Given the description of an element on the screen output the (x, y) to click on. 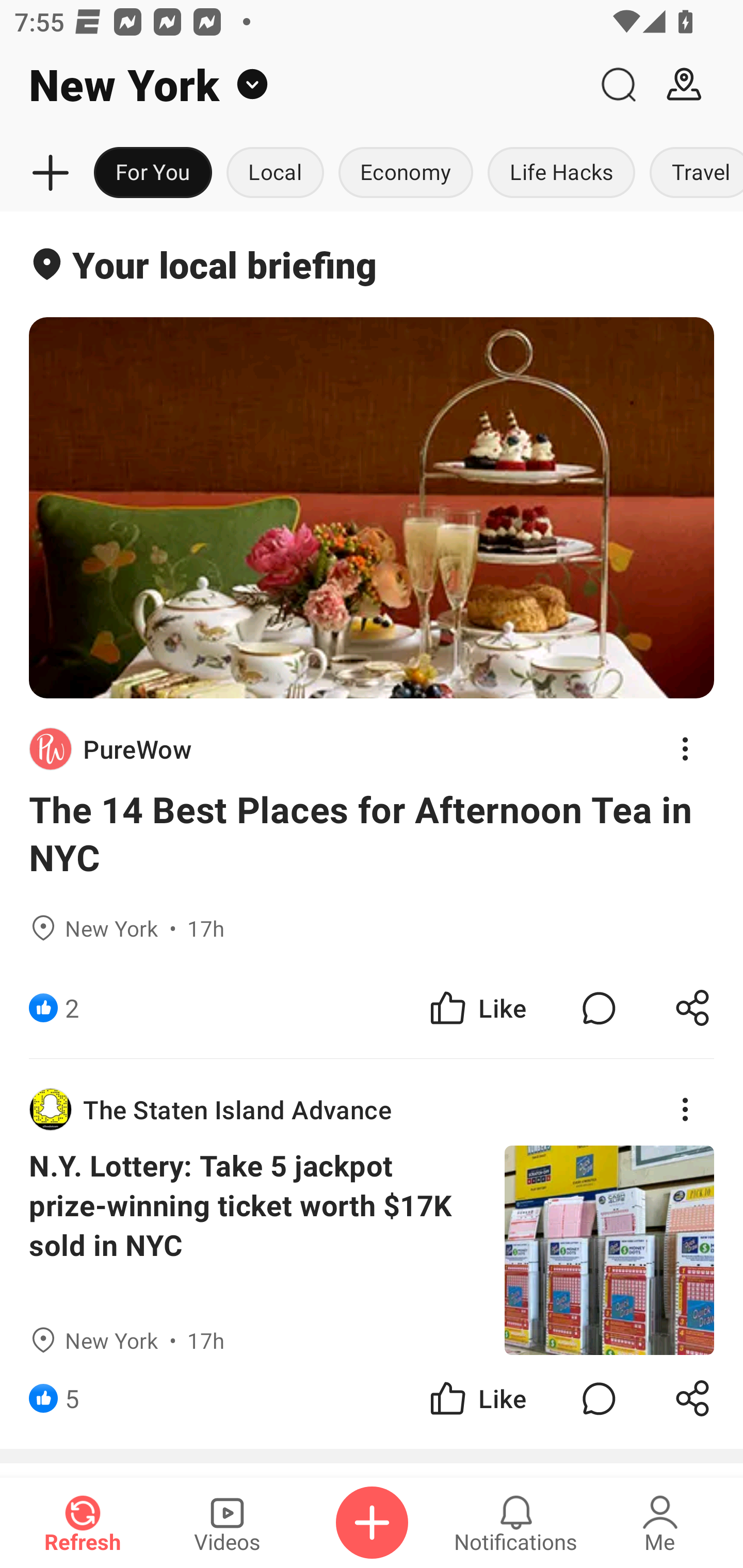
New York (292, 84)
For You (152, 172)
Local (275, 172)
Economy (405, 172)
Life Hacks (561, 172)
Travel (692, 172)
2 (72, 1007)
Like (476, 1007)
5 (72, 1397)
Like (476, 1397)
Videos (227, 1522)
Notifications (516, 1522)
Me (659, 1522)
